Given the description of an element on the screen output the (x, y) to click on. 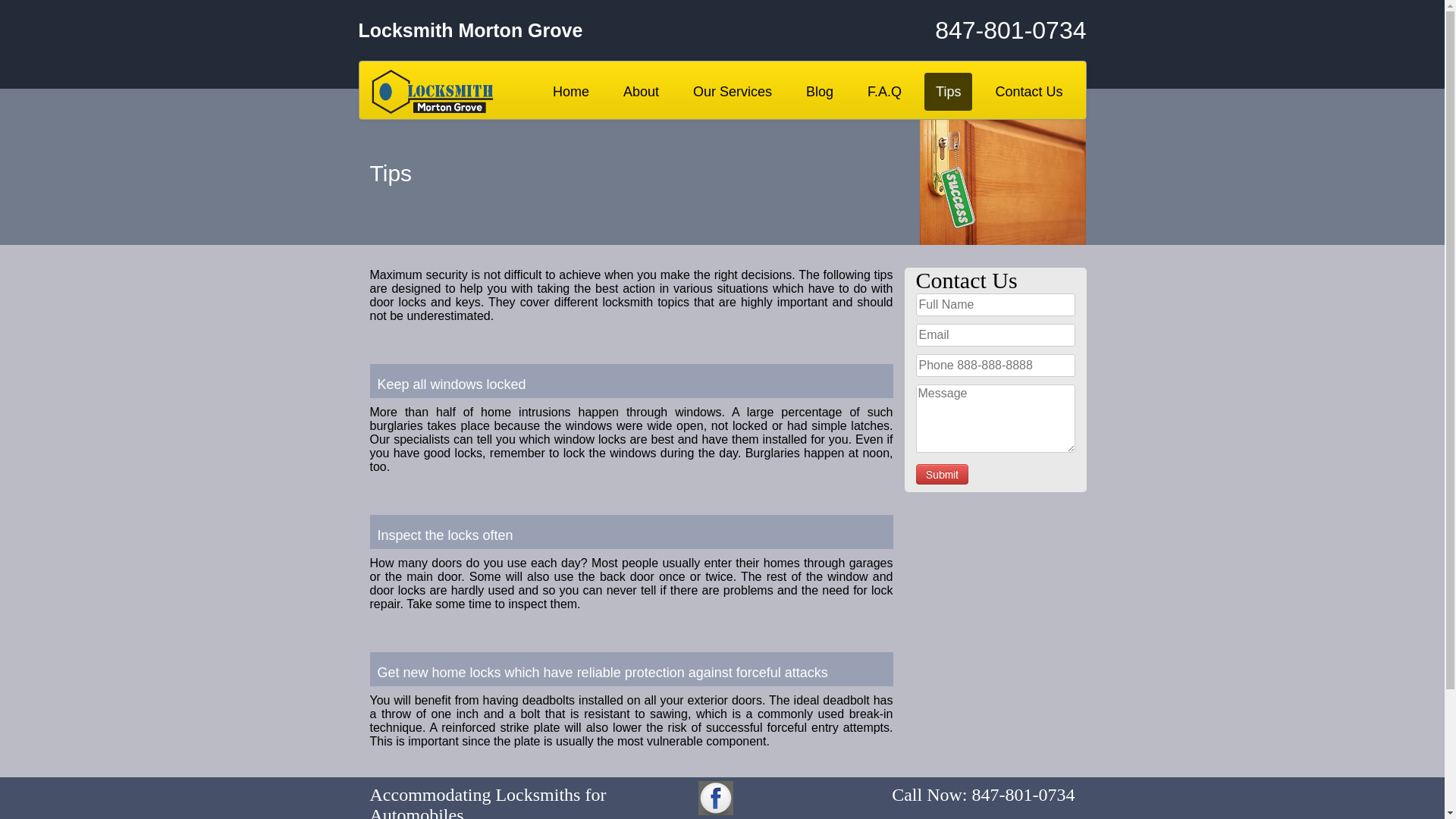
847-801-0734 Element type: text (964, 30)
Blog Element type: text (819, 91)
Our Services Element type: text (732, 91)
Contact Us Element type: text (1028, 91)
Home Element type: text (570, 91)
F.A.Q Element type: text (884, 91)
Tips Element type: text (948, 91)
  Element type: text (942, 474)
About Element type: text (640, 91)
